Given the description of an element on the screen output the (x, y) to click on. 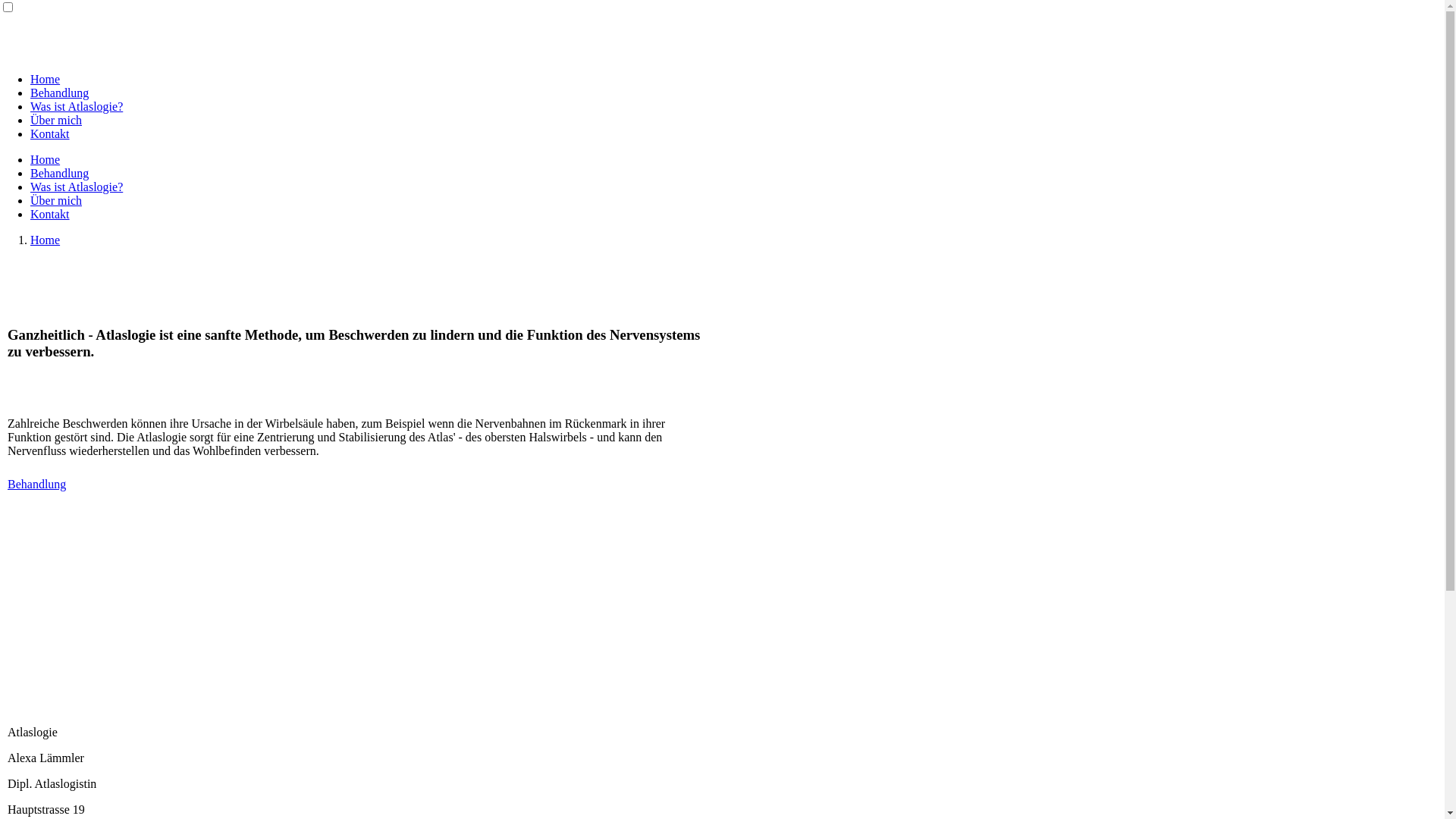
Behandlung Element type: text (59, 92)
Home Element type: text (44, 78)
Kontakt Element type: text (49, 213)
Was ist Atlaslogie? Element type: text (76, 106)
Behandlung Element type: text (36, 483)
Home Element type: text (44, 239)
Was ist Atlaslogie? Element type: text (76, 186)
Behandlung Element type: text (59, 172)
Kontakt Element type: text (49, 133)
Home Element type: text (44, 159)
